Given the description of an element on the screen output the (x, y) to click on. 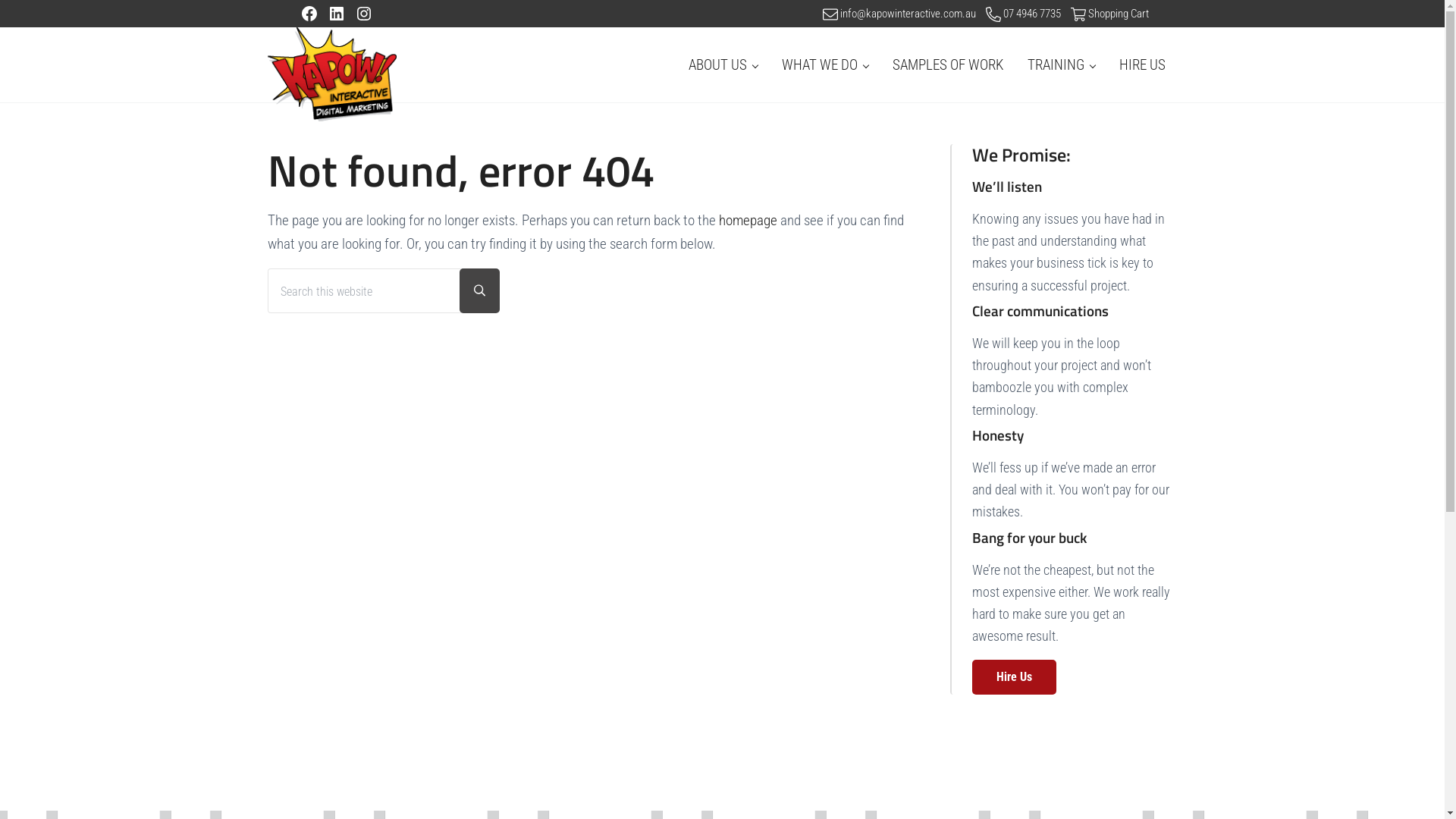
07 4946 7735 Element type: text (1033, 13)
SAMPLES OF WORK Element type: text (946, 64)
info@kapowinteractive.com.au Element type: text (907, 13)
Shopping Cart Element type: text (1118, 13)
Instagram Element type: text (363, 13)
Hire Us Element type: text (1014, 676)
TRAINING Element type: text (1060, 64)
Submit search Element type: text (479, 290)
Skip to main content Element type: text (0, 0)
LinkedIn Element type: text (336, 13)
ABOUT US Element type: text (722, 64)
homepage Element type: text (747, 220)
Facebook Element type: text (309, 13)
WHAT WE DO Element type: text (823, 64)
HIRE US Element type: text (1142, 64)
